Given the description of an element on the screen output the (x, y) to click on. 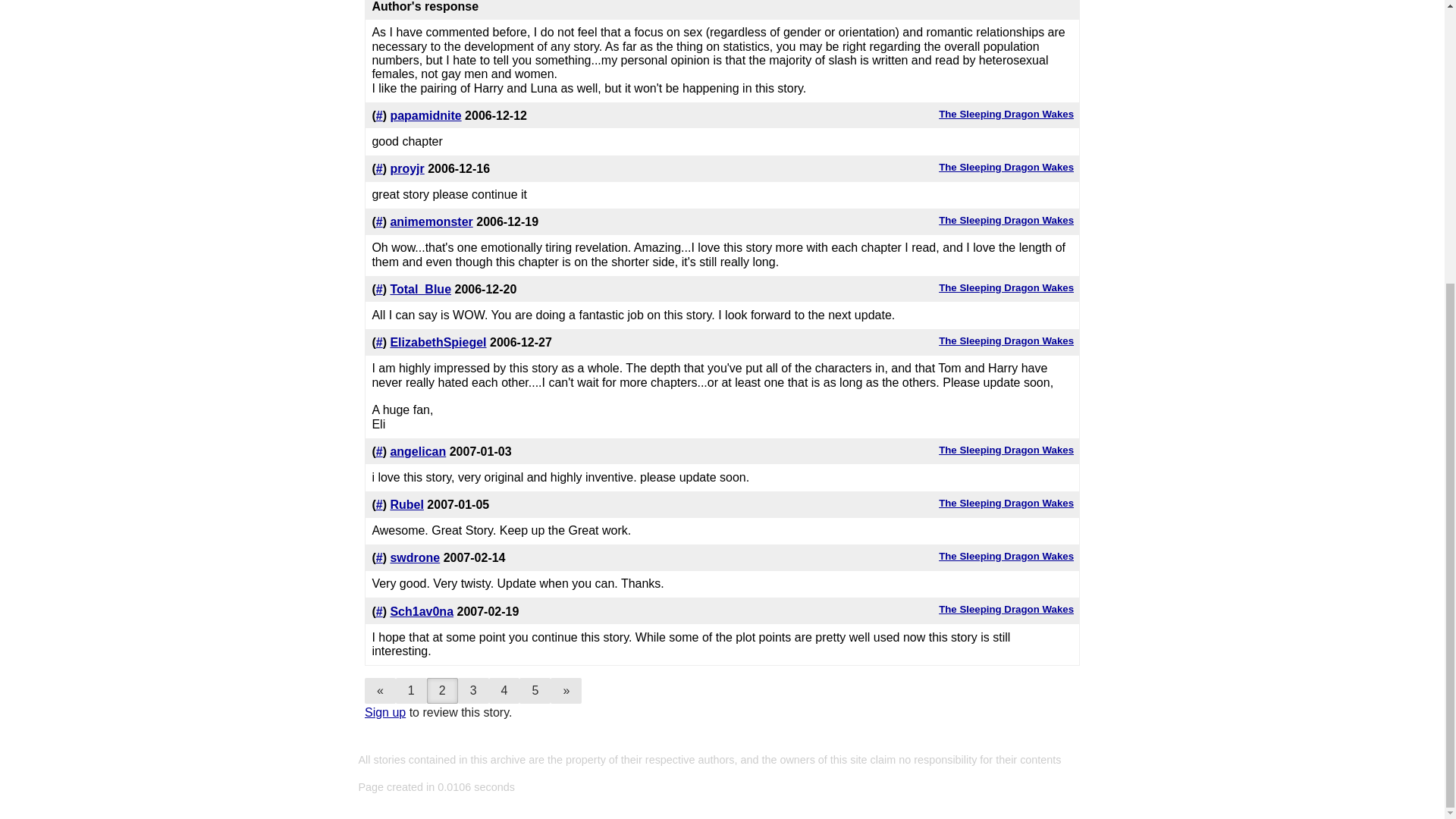
2006-12-19 23:44:55 (507, 221)
The Sleeping Dragon Wakes (1006, 287)
papamidnite (425, 115)
The Sleeping Dragon Wakes (1006, 166)
2007-01-05 00:48:51 (457, 504)
2006-12-16 17:55:09 (458, 168)
2006-12-27 20:09:25 (520, 341)
2006-12-12 02:36:02 (495, 115)
animemonster (430, 221)
proyjr (406, 168)
